Given the description of an element on the screen output the (x, y) to click on. 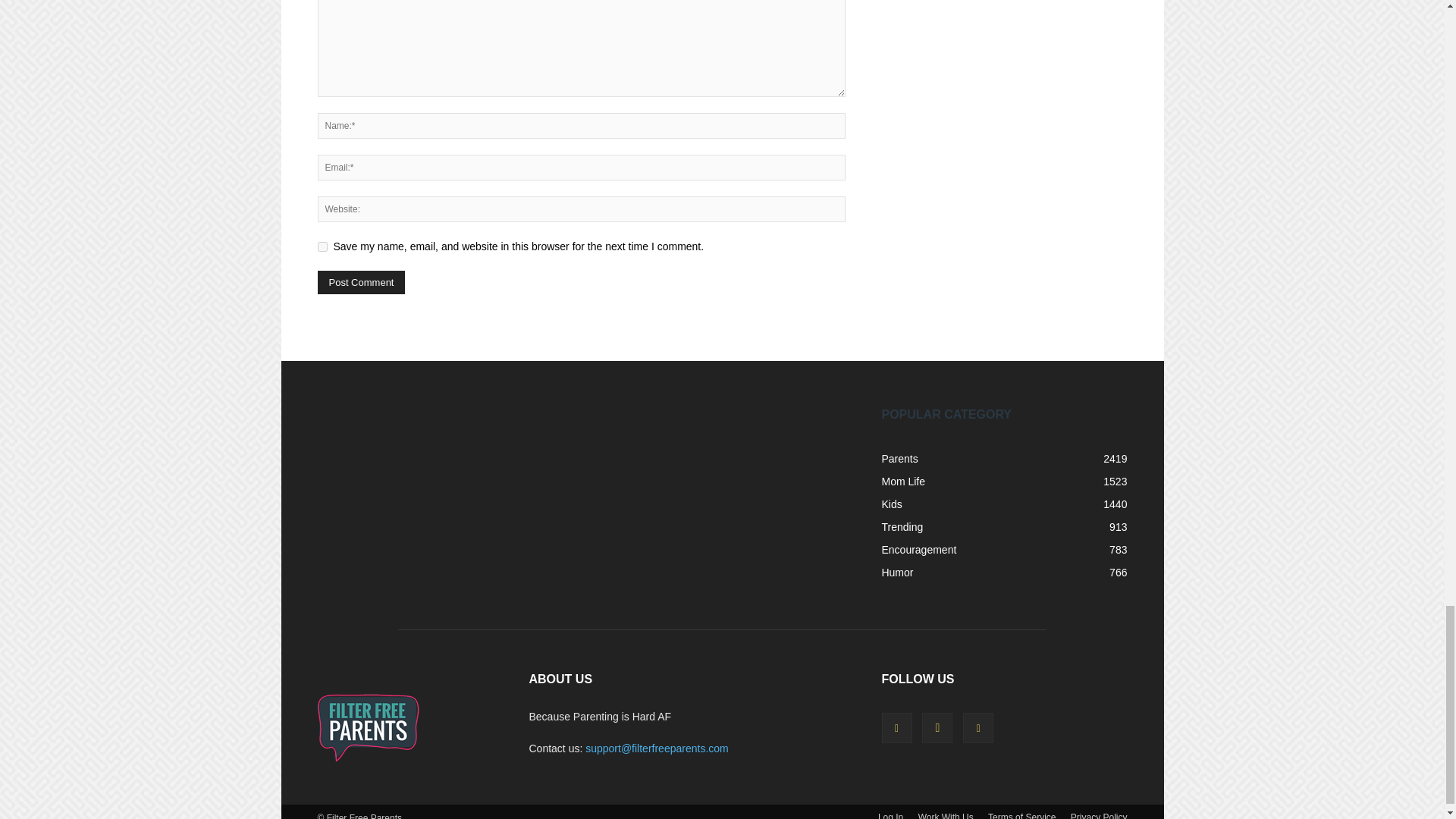
Post Comment (360, 282)
yes (321, 246)
